Given the description of an element on the screen output the (x, y) to click on. 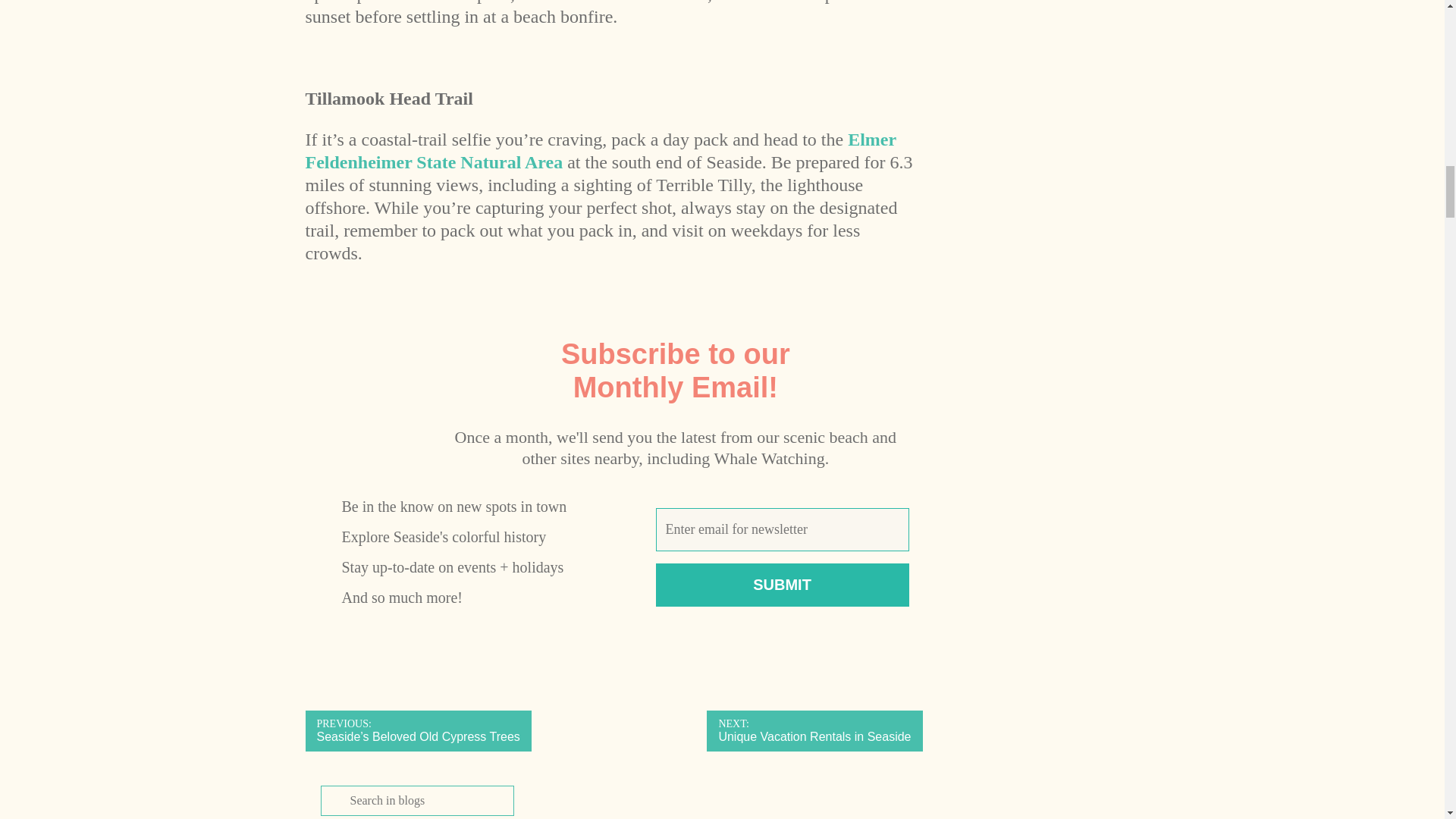
Submit (782, 584)
Search for: (813, 730)
Elmer Feldenheimer State Natural Area (416, 800)
Submit (599, 150)
